Given the description of an element on the screen output the (x, y) to click on. 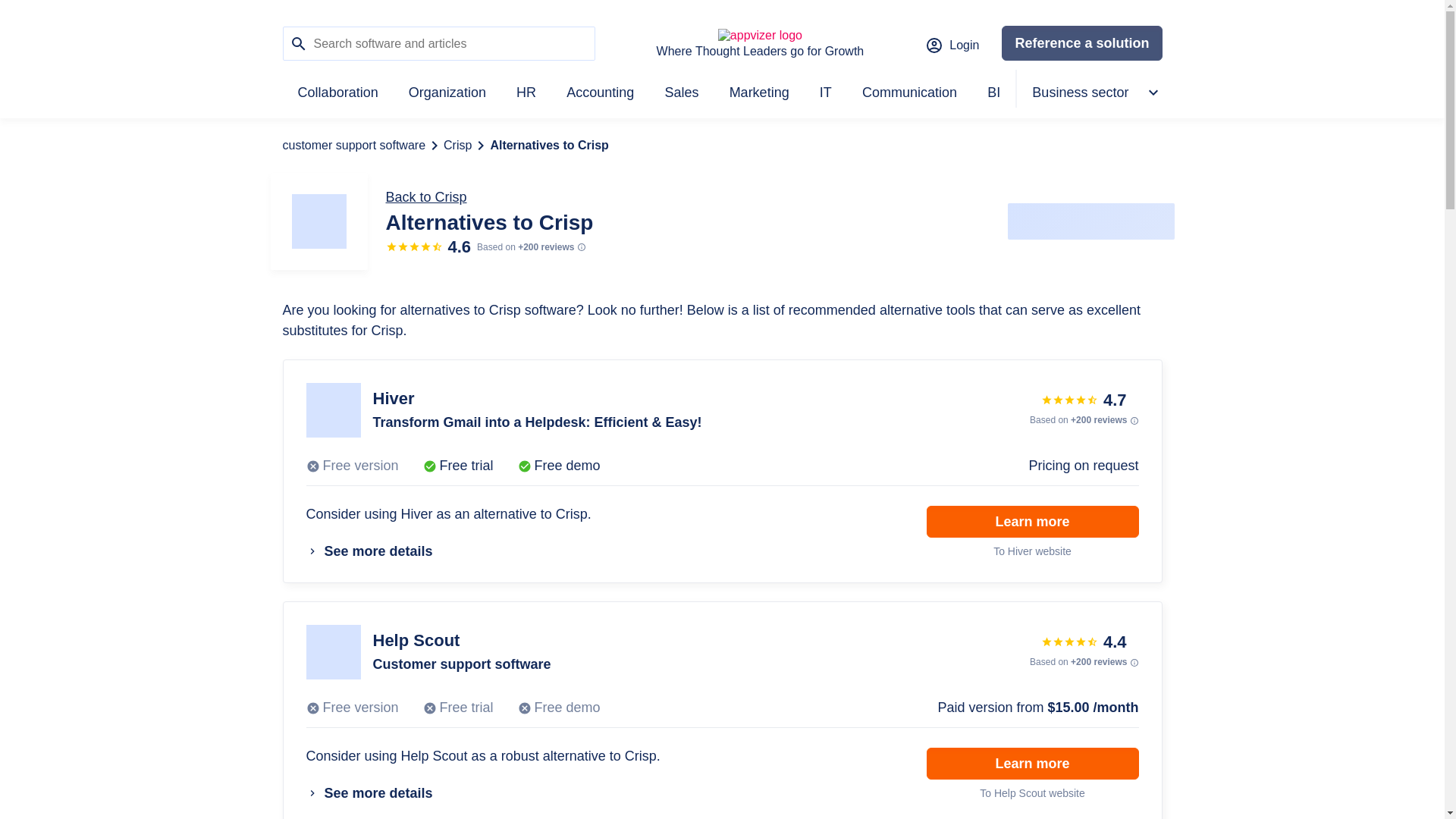
Alternatives to Crisp (548, 145)
Reference a solution (1081, 42)
customer support software (353, 145)
Login (951, 45)
Crisp (457, 145)
